Given the description of an element on the screen output the (x, y) to click on. 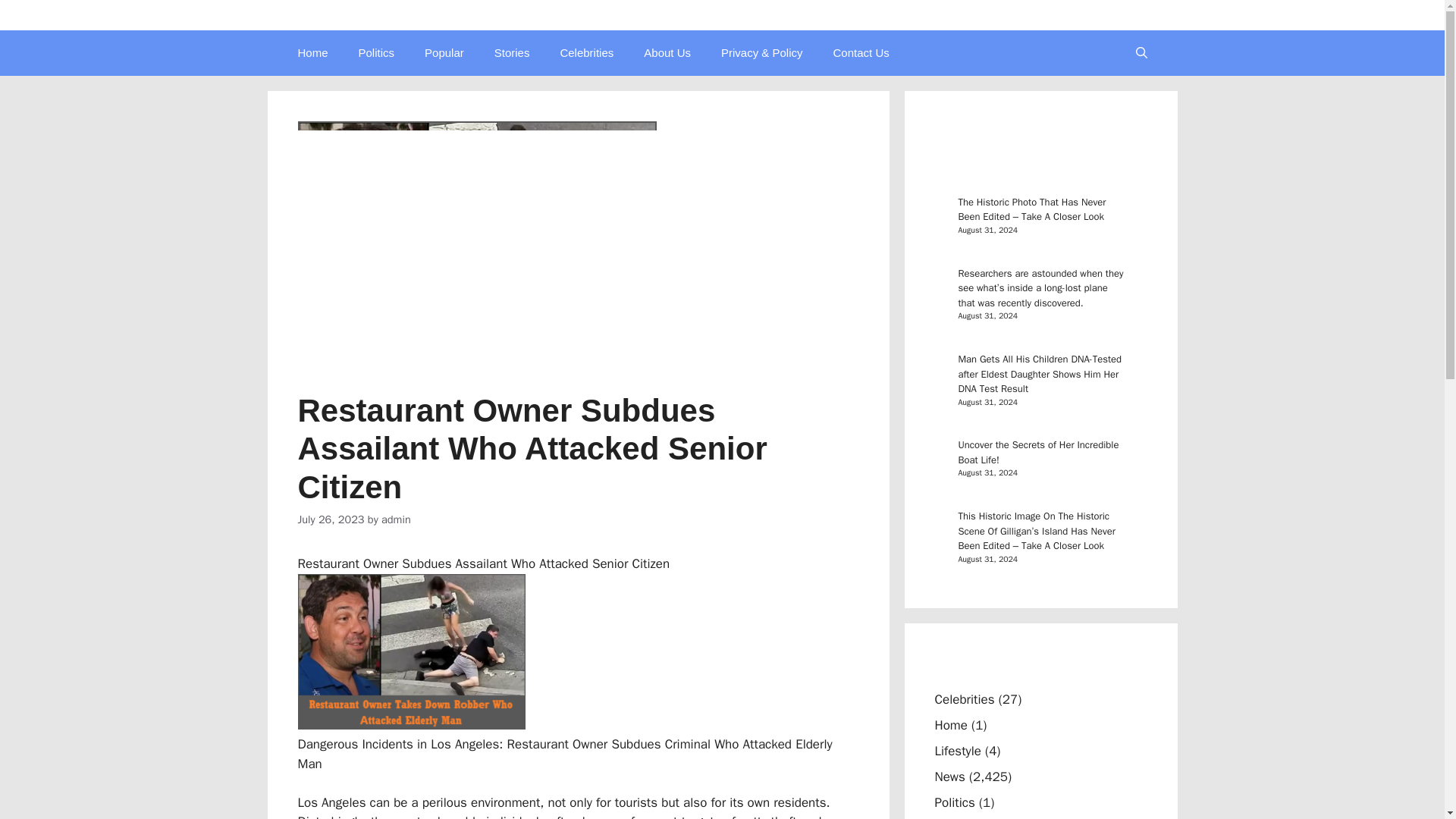
Celebrities (964, 699)
Celebrities (586, 53)
News (948, 776)
admin (395, 519)
Stories (511, 53)
Home (950, 725)
About Us (667, 53)
Popular (444, 53)
Home (312, 53)
Politics (376, 53)
